Given the description of an element on the screen output the (x, y) to click on. 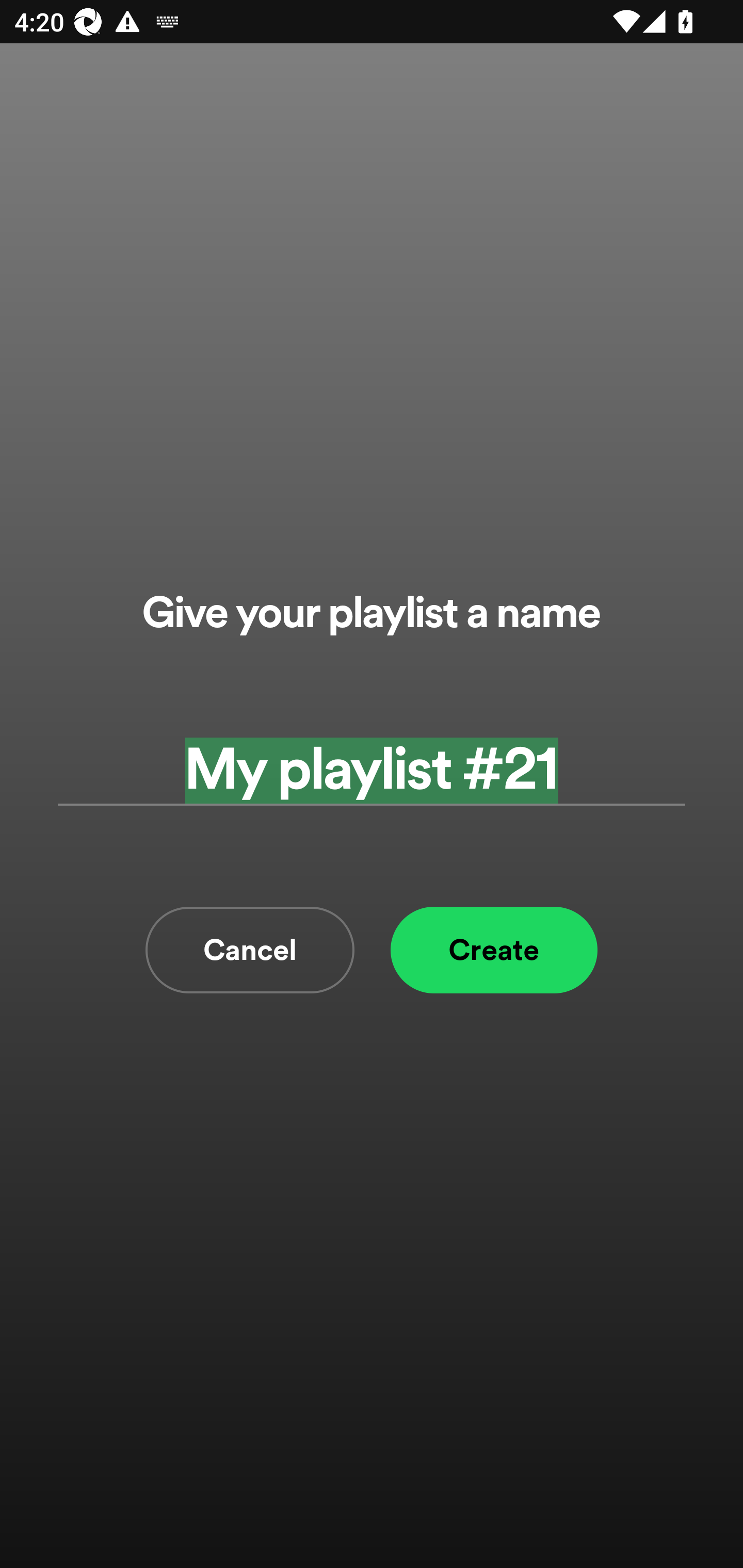
My playlist #21 Add a playlist name (371, 769)
Cancel (249, 950)
Create (493, 950)
